Given the description of an element on the screen output the (x, y) to click on. 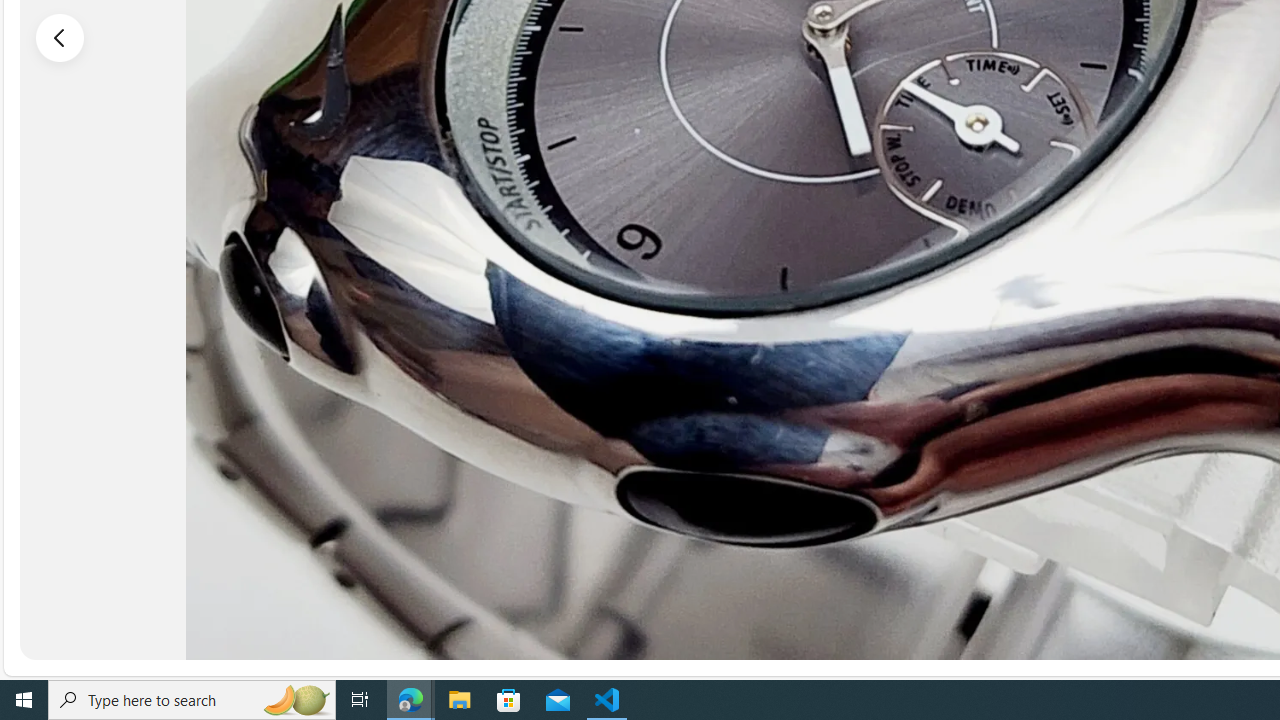
Previous image - Item images thumbnails (59, 37)
